Given the description of an element on the screen output the (x, y) to click on. 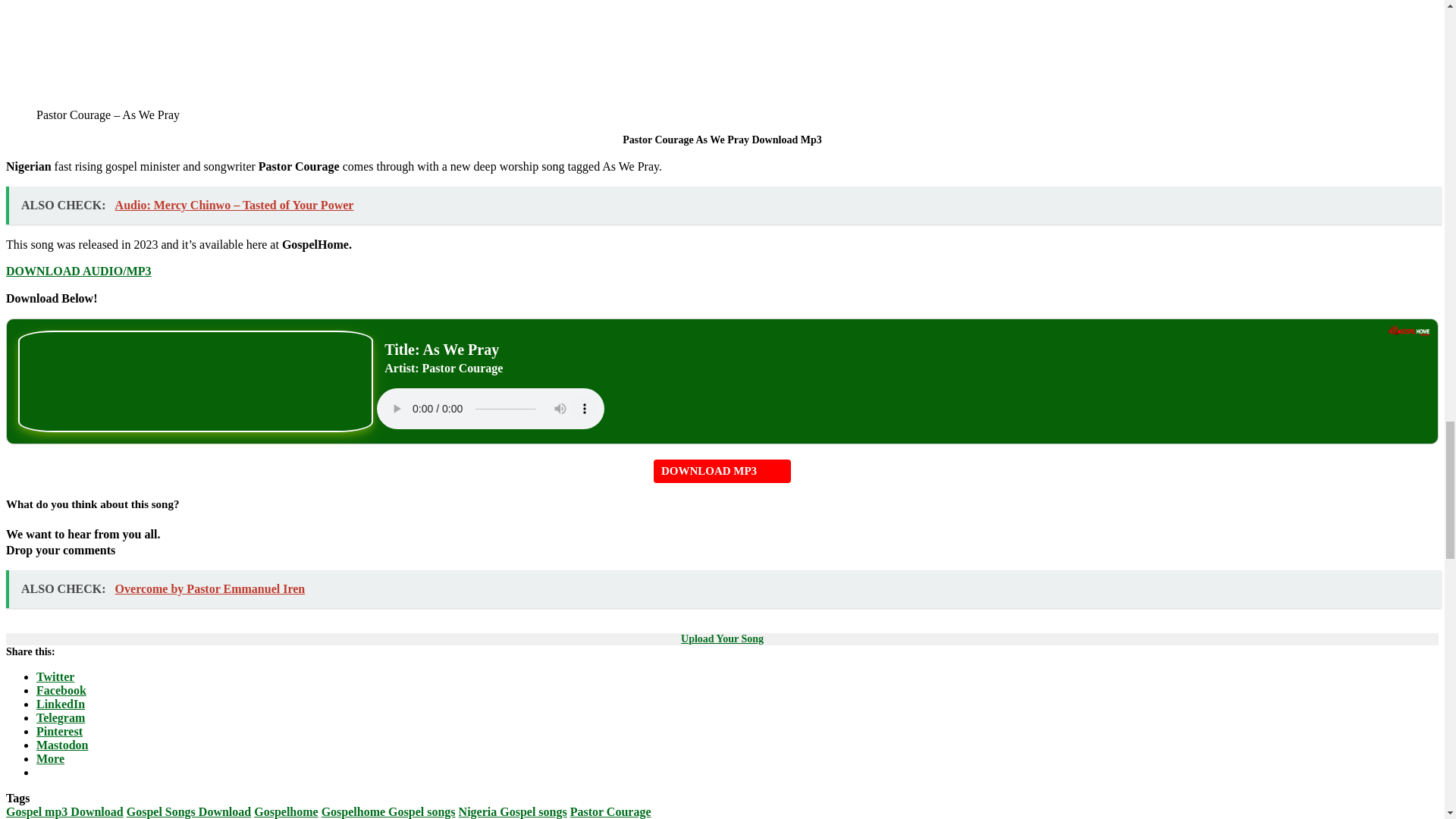
Click to share on Telegram (60, 717)
Twitter (55, 676)
Click to share on Facebook (60, 689)
Click to share on LinkedIn (60, 703)
DOWNLOAD MP3 (721, 471)
Click to share on Twitter (55, 676)
Facebook (60, 689)
